Given the description of an element on the screen output the (x, y) to click on. 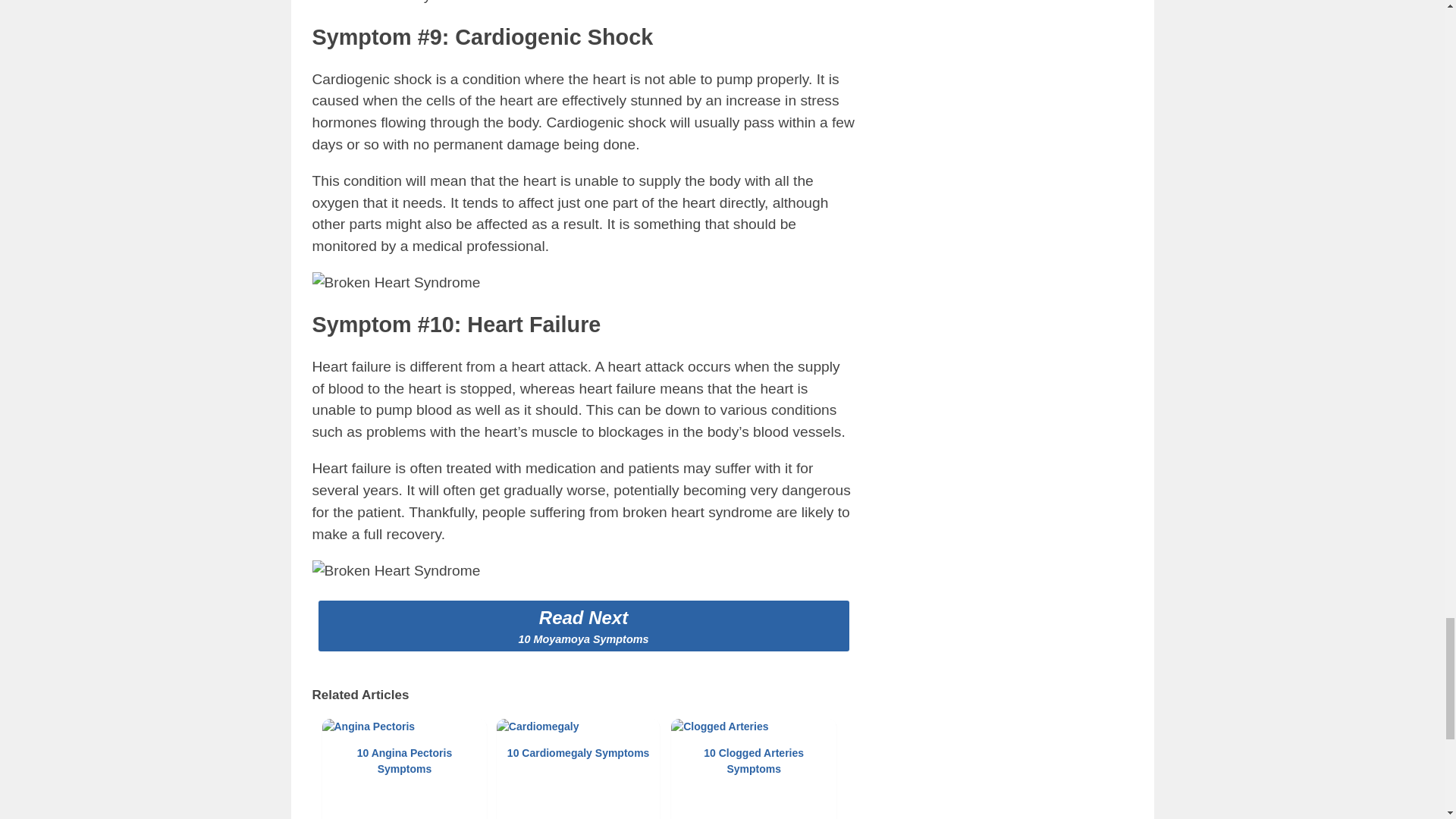
10 Angina Pectoris Symptoms (403, 769)
10 Clogged Arteries Symptoms (753, 769)
10 Cardiomegaly Symptoms (579, 769)
